Given the description of an element on the screen output the (x, y) to click on. 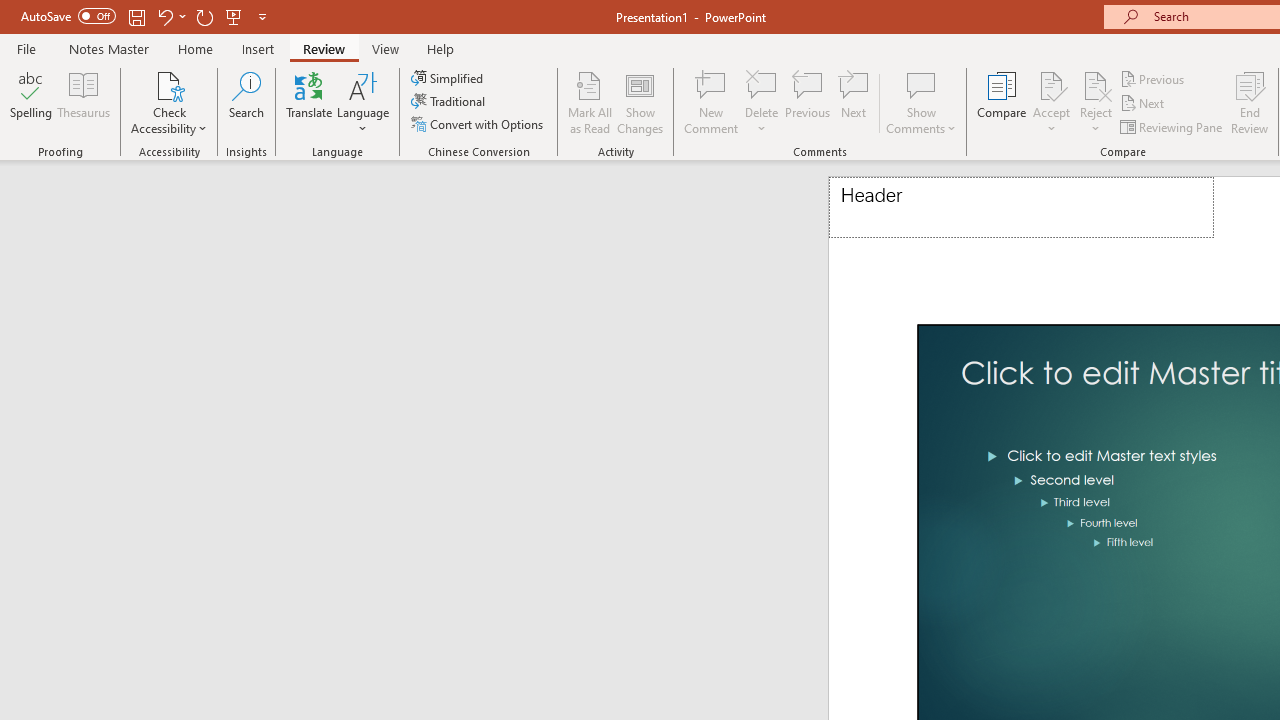
Reject (1096, 102)
Convert with Options... (479, 124)
Translate (309, 102)
Thesaurus... (83, 102)
Mark All as Read (589, 102)
New Comment (711, 102)
Reviewing Pane (1172, 126)
Compare (1002, 102)
